Given the description of an element on the screen output the (x, y) to click on. 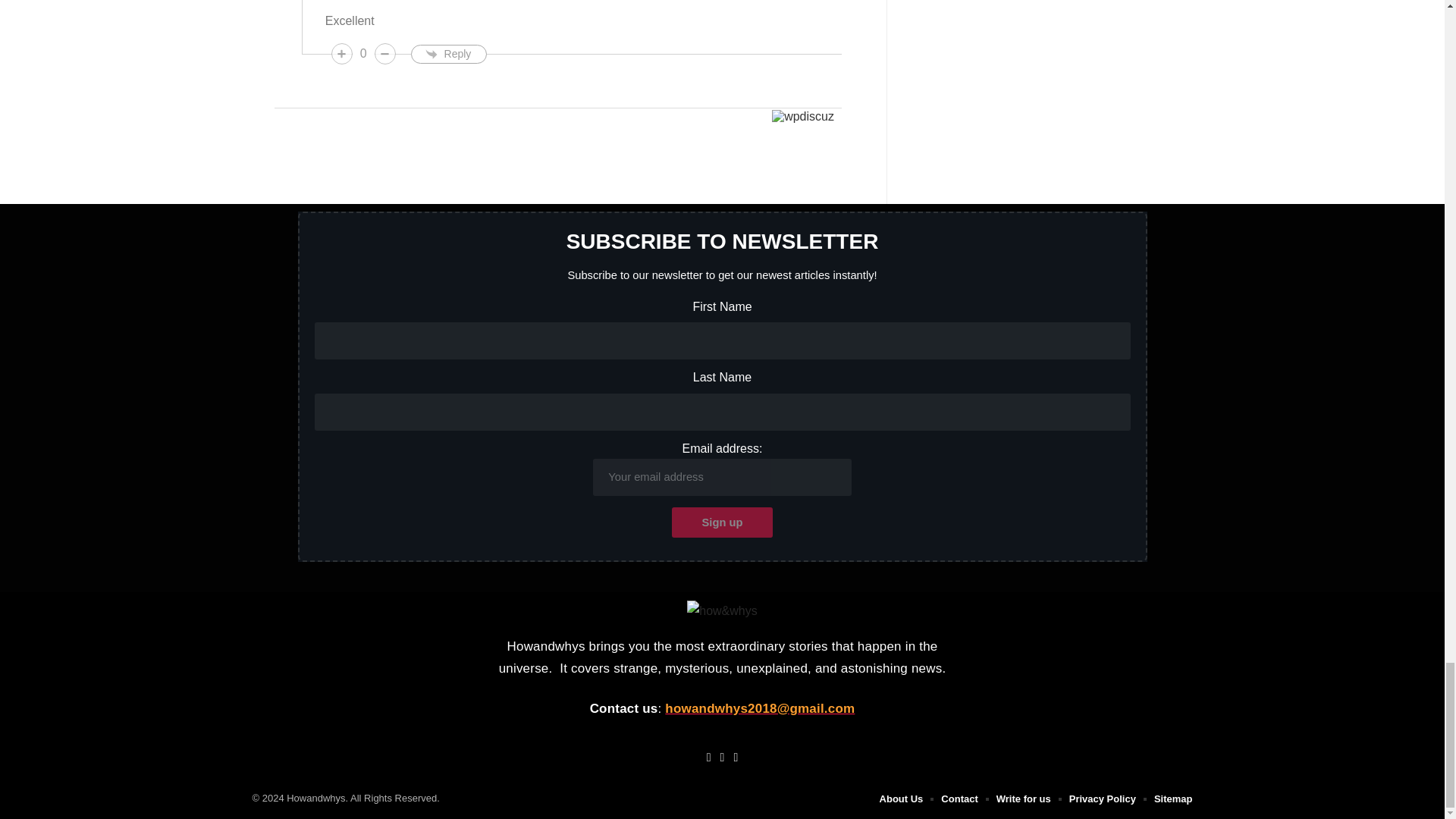
Sign up (722, 521)
